Given the description of an element on the screen output the (x, y) to click on. 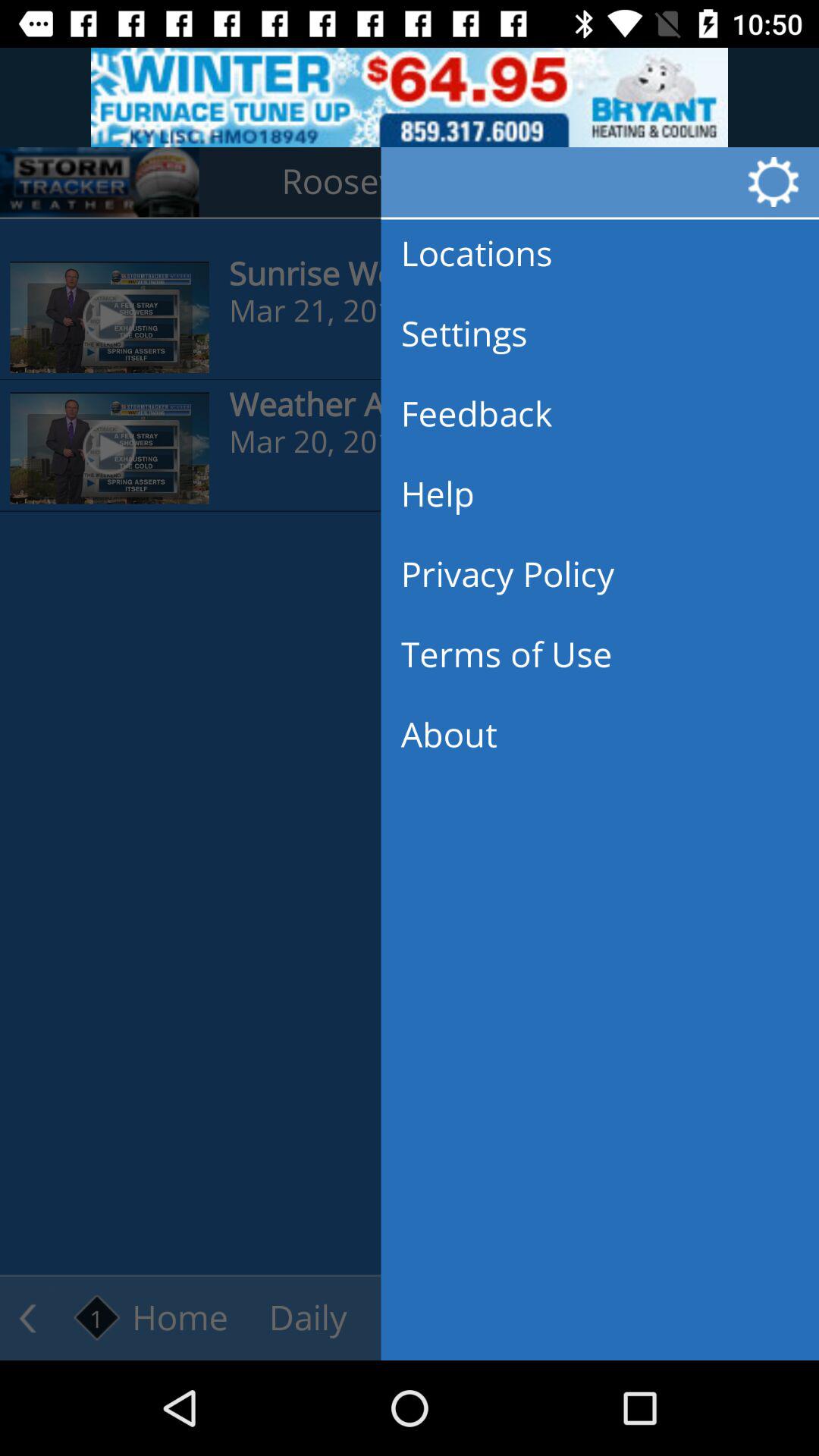
click on the text daily which is right side of home (307, 1318)
select home button from down (152, 1318)
